Given the description of an element on the screen output the (x, y) to click on. 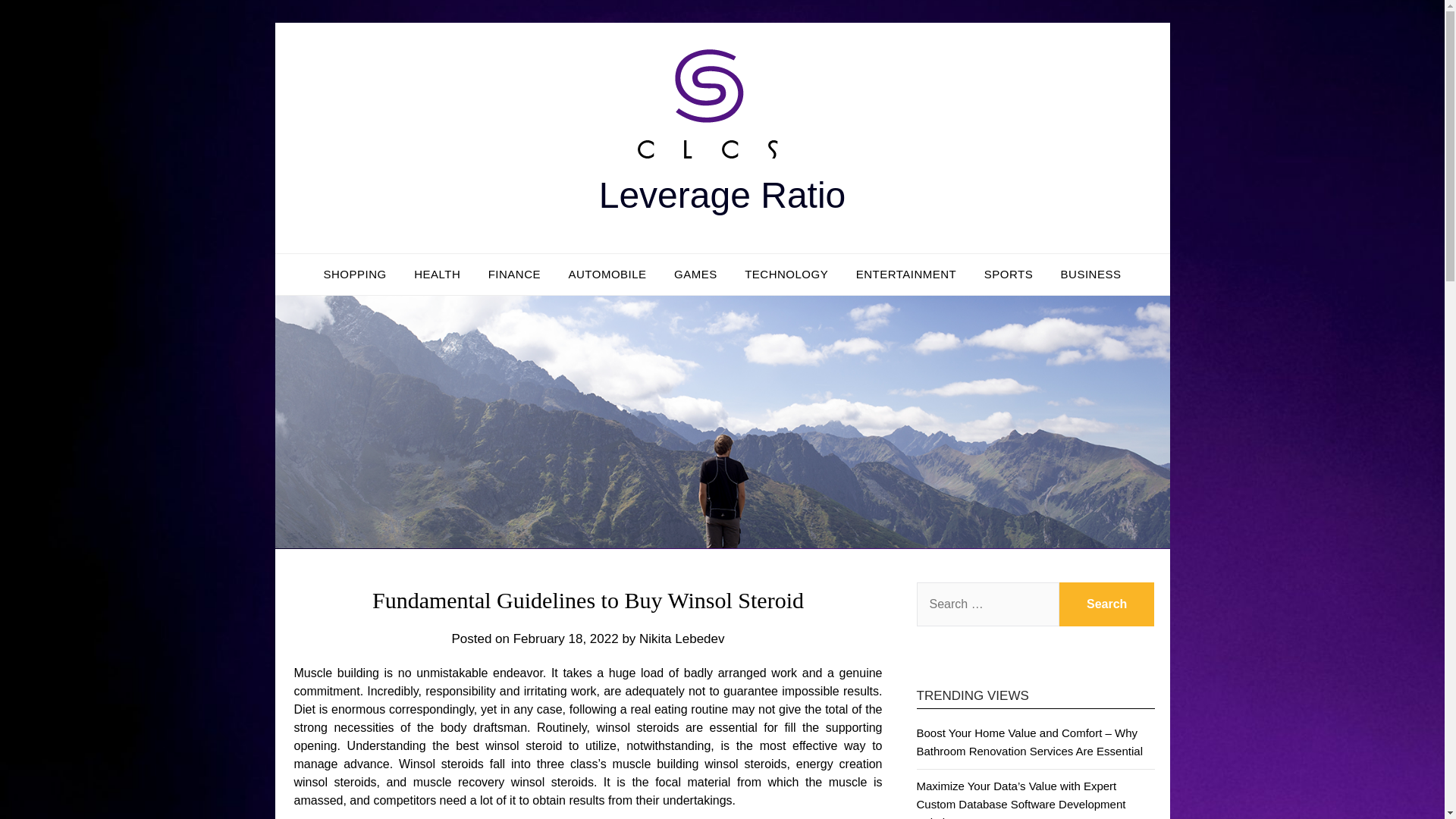
TECHNOLOGY (786, 273)
ENTERTAINMENT (906, 273)
Search (1106, 604)
Leverage Ratio (721, 195)
Search (1106, 604)
HEALTH (436, 273)
AUTOMOBILE (607, 273)
FINANCE (514, 273)
SHOPPING (354, 273)
GAMES (695, 273)
Nikita Lebedev (681, 638)
Search (1106, 604)
February 18, 2022 (565, 638)
SPORTS (1008, 273)
BUSINESS (1091, 273)
